Given the description of an element on the screen output the (x, y) to click on. 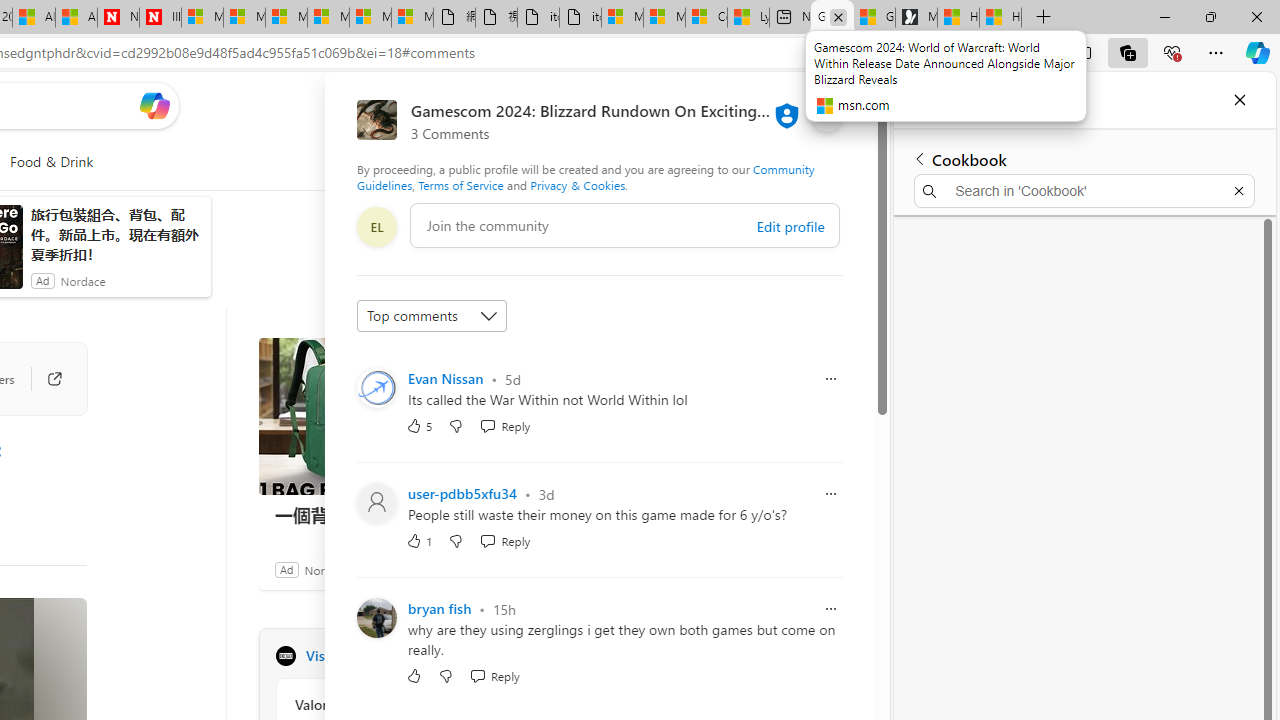
Reply Reply Comment (494, 675)
Like (414, 675)
CGMagazine (285, 655)
itconcepthk.com/projector_solutions.mp4 (580, 17)
Profile Picture (376, 617)
Illness news & latest pictures from Newsweek.com (159, 17)
Community Guidelines (586, 176)
Newsweek - News, Analysis, Politics, Business, Technology (118, 17)
